Given the description of an element on the screen output the (x, y) to click on. 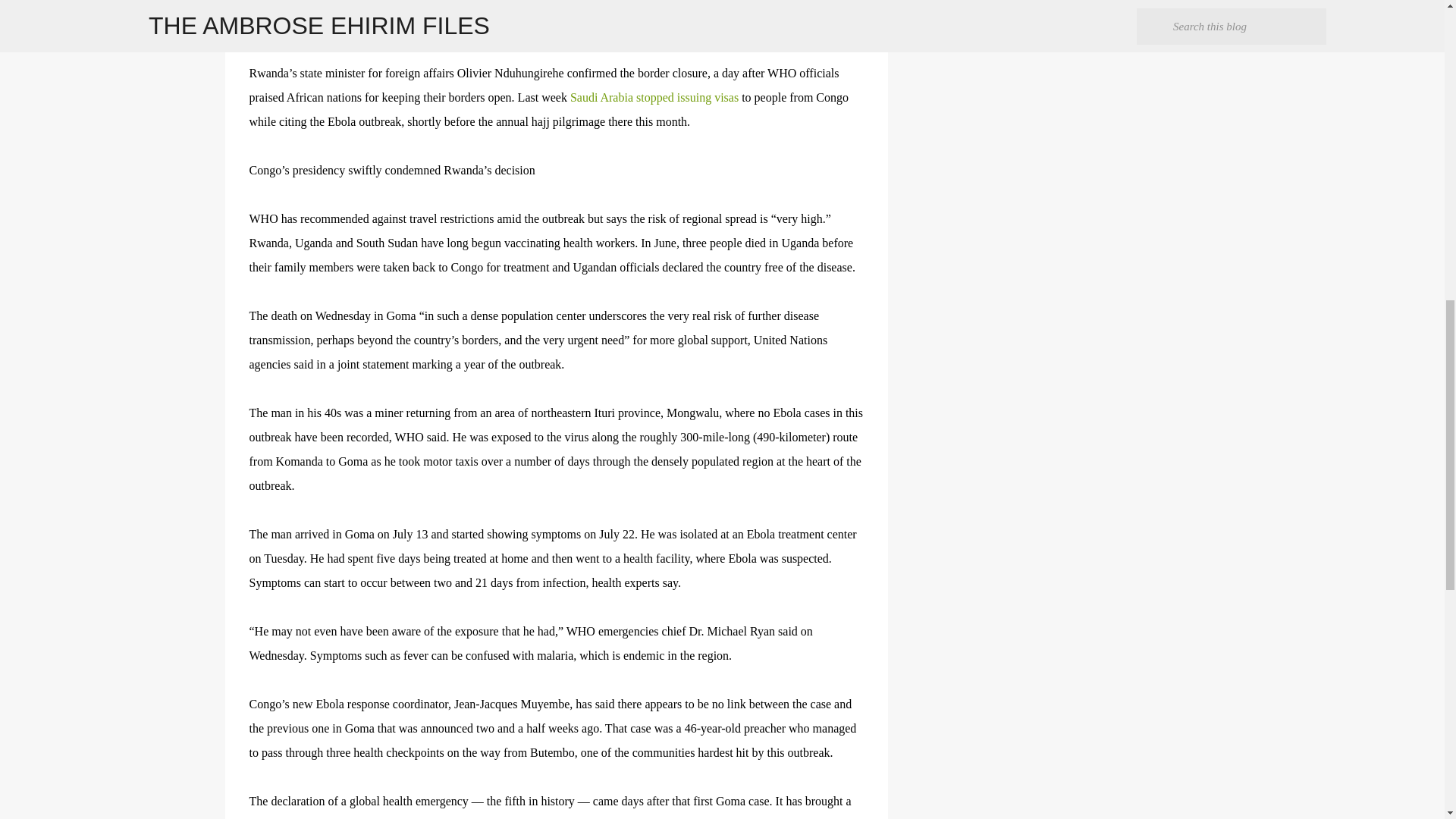
Saudi Arabia stopped issuing visas (654, 97)
outbreak (294, 3)
